Given the description of an element on the screen output the (x, y) to click on. 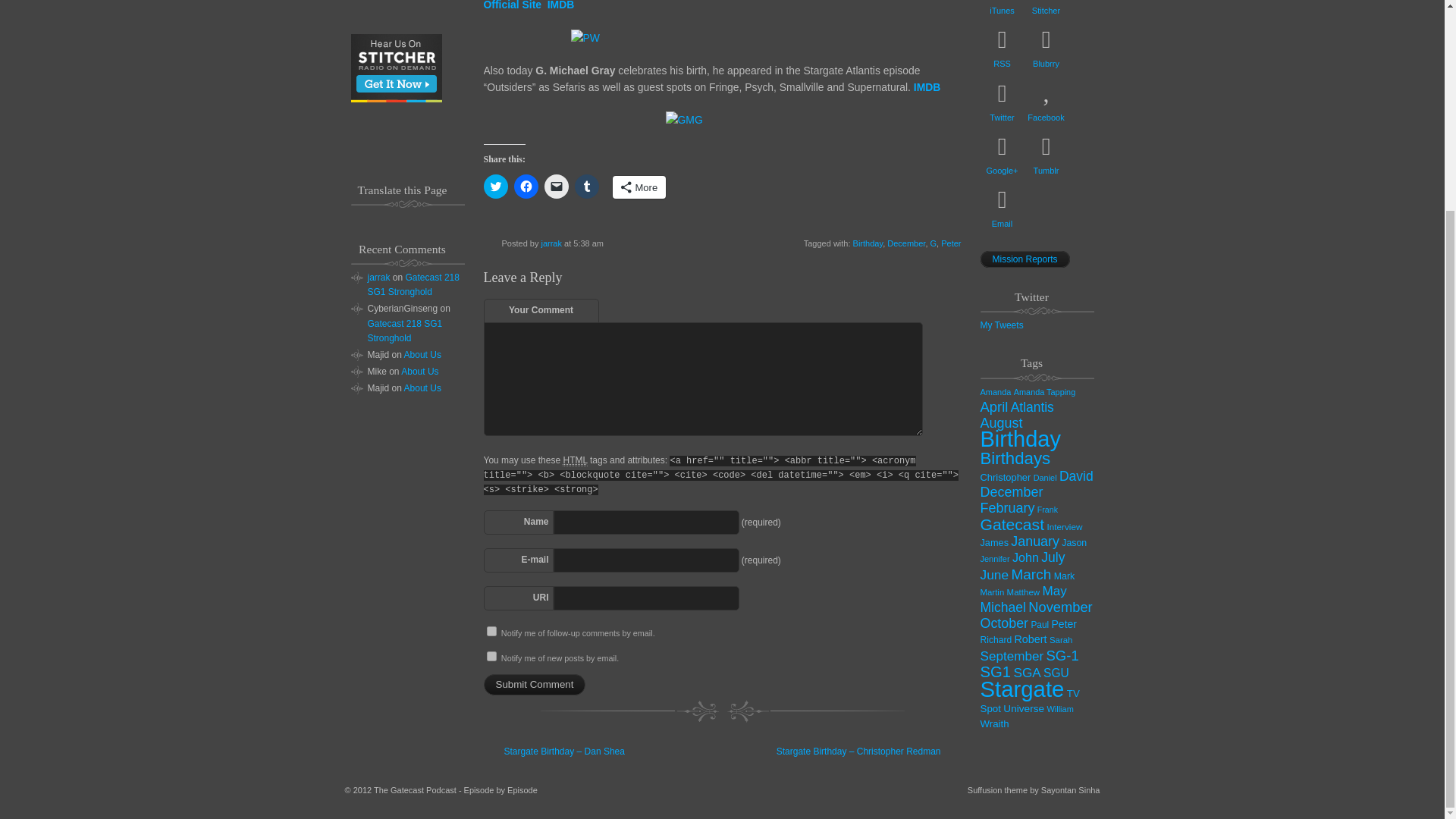
Click to share on Twitter (495, 186)
Birthday (868, 243)
IMDB (927, 87)
December (905, 243)
Click to email a link to a friend (556, 186)
subscribe (491, 655)
About Us (422, 388)
IMDB (561, 5)
Click to share on Tumblr (586, 186)
jarrak (551, 243)
jarrak (378, 276)
About Us (422, 354)
More (639, 187)
Gatecast 218 SG1 Stronghold (412, 284)
subscribe (491, 631)
